Given the description of an element on the screen output the (x, y) to click on. 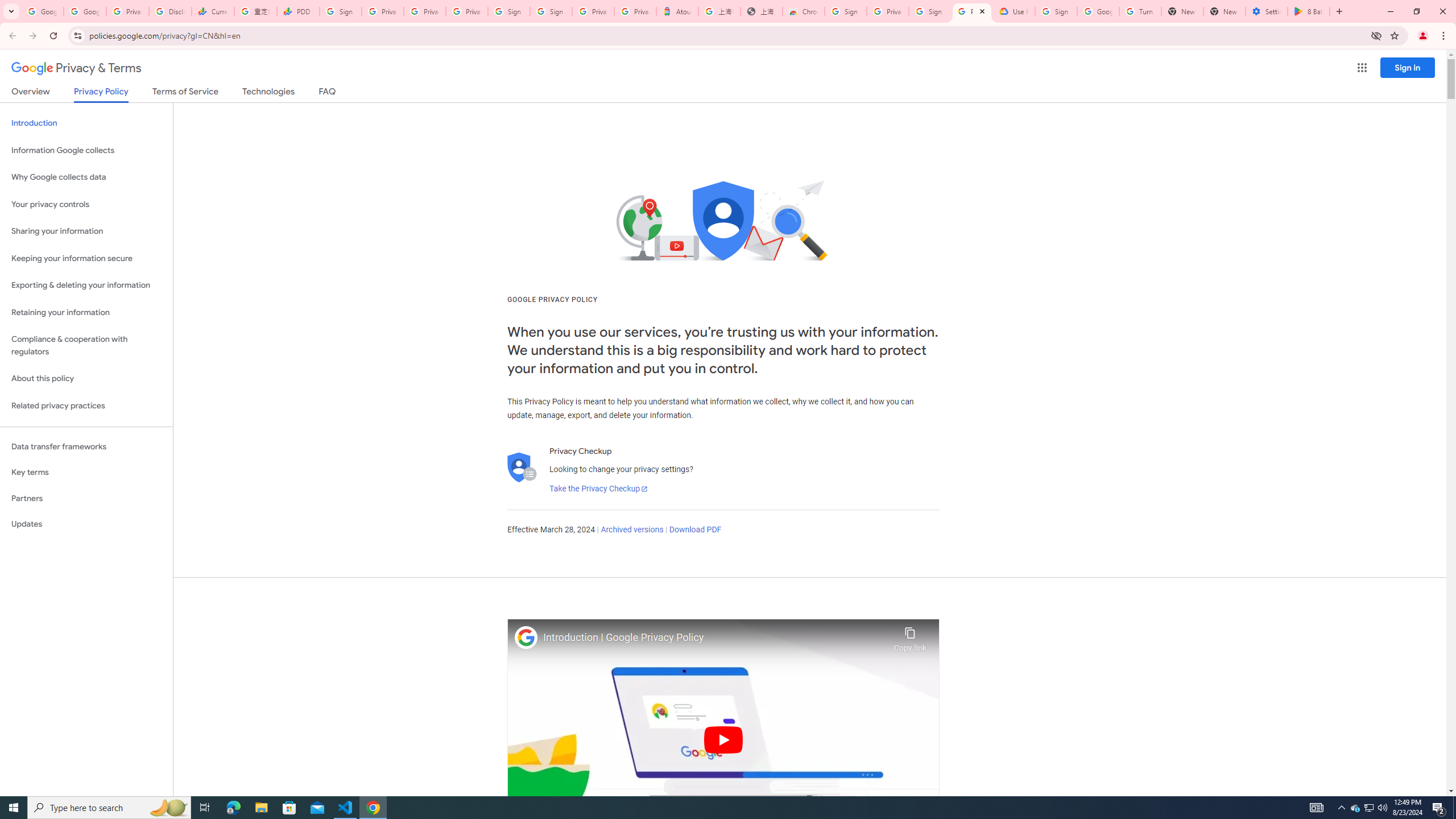
Turn cookies on or off - Computer - Google Account Help (1139, 11)
